Given the description of an element on the screen output the (x, y) to click on. 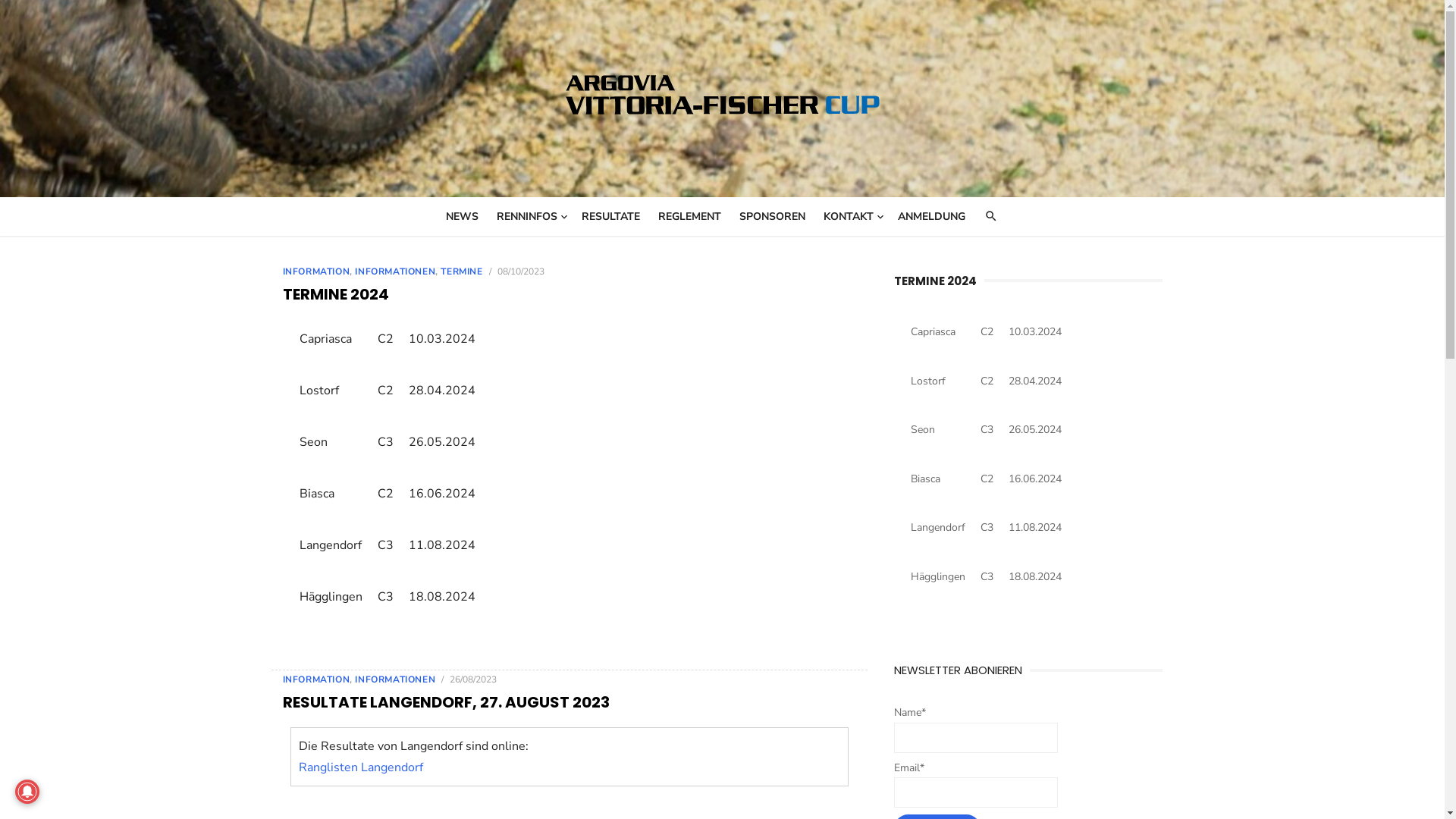
TERMINE Element type: text (461, 271)
RENNINFOS Element type: text (530, 216)
SPONSOREN Element type: text (771, 216)
TERMINE 2024 Element type: text (335, 293)
RESULTATE Element type: text (610, 216)
INFORMATION Element type: text (315, 271)
08/10/2023 Element type: text (520, 271)
REGLEMENT Element type: text (689, 216)
NEWS Element type: text (462, 216)
KONTAKT Element type: text (851, 216)
INFORMATIONEN Element type: text (394, 271)
RESULTATE LANGENDORF, 27. AUGUST 2023 Element type: text (445, 701)
INFORMATION Element type: text (315, 679)
ANMELDUNG Element type: text (931, 216)
Ranglisten Langendorf Element type: text (360, 766)
INFORMATIONEN Element type: text (394, 679)
TERMINE 2024 Element type: text (935, 280)
26/08/2023 Element type: text (472, 679)
